Given the description of an element on the screen output the (x, y) to click on. 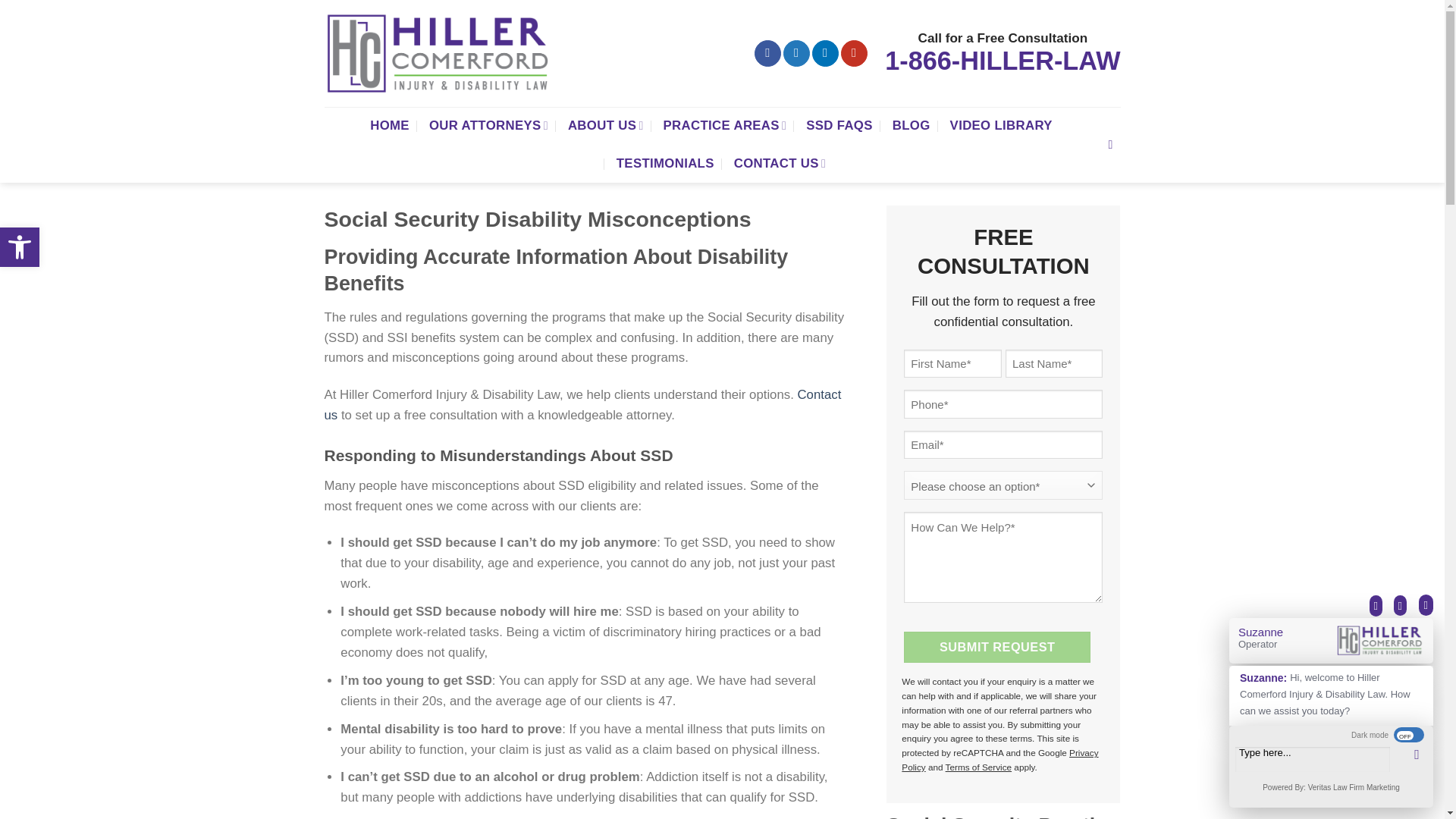
1-866-HILLER-LAW (1002, 65)
HOME (389, 125)
OUR ATTORNEYS (488, 125)
Contact (19, 246)
Accessibility Tools (582, 404)
Follow on Facebook (19, 246)
Accessibility Tools (767, 53)
Follow on Twitter (19, 247)
Follow on YouTube (796, 53)
Submit Request (854, 53)
Follow on LinkedIn (997, 646)
